Given the description of an element on the screen output the (x, y) to click on. 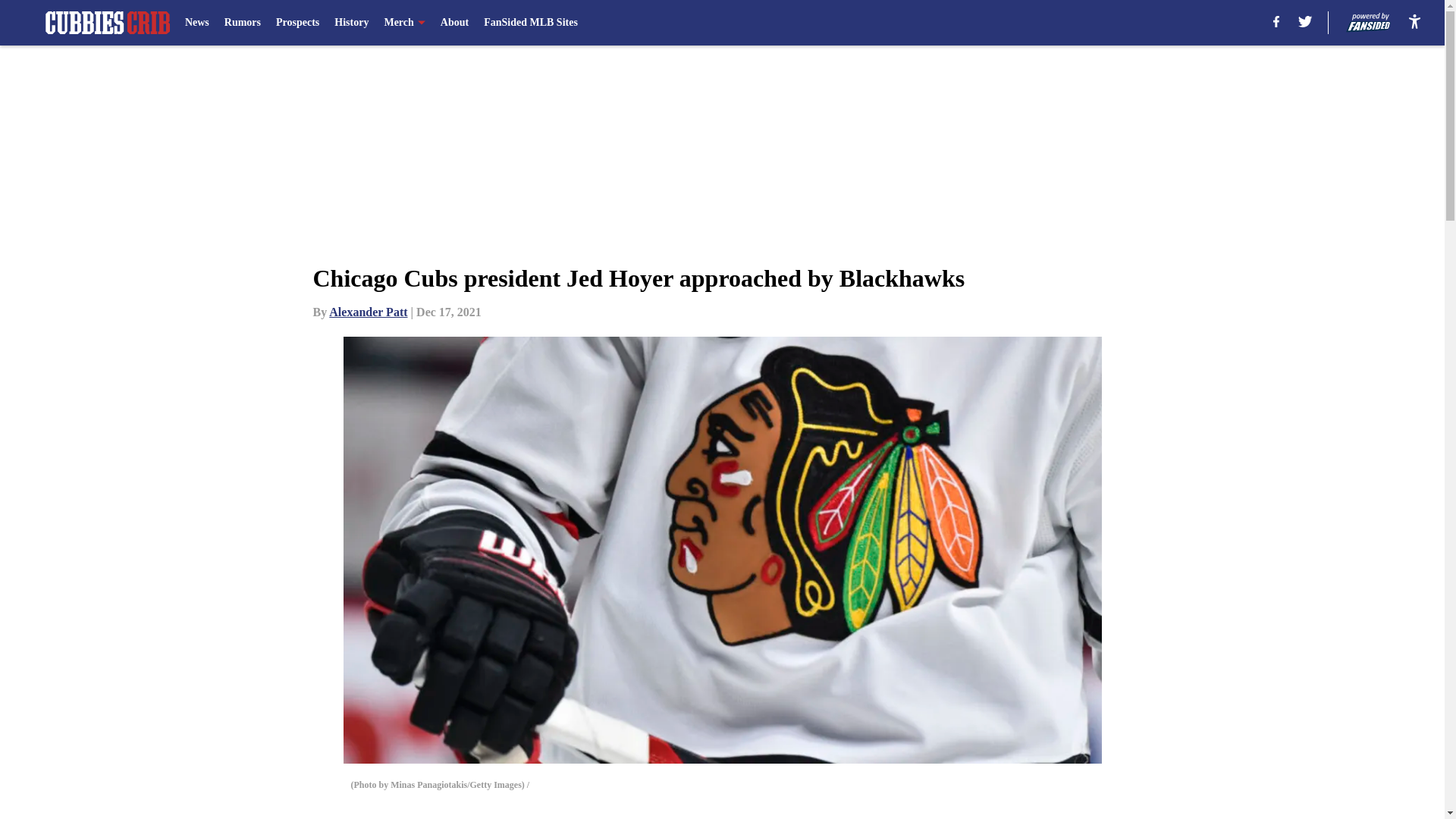
Alexander Patt (368, 311)
About (454, 22)
News (196, 22)
History (351, 22)
FanSided MLB Sites (530, 22)
Prospects (297, 22)
Rumors (242, 22)
